Given the description of an element on the screen output the (x, y) to click on. 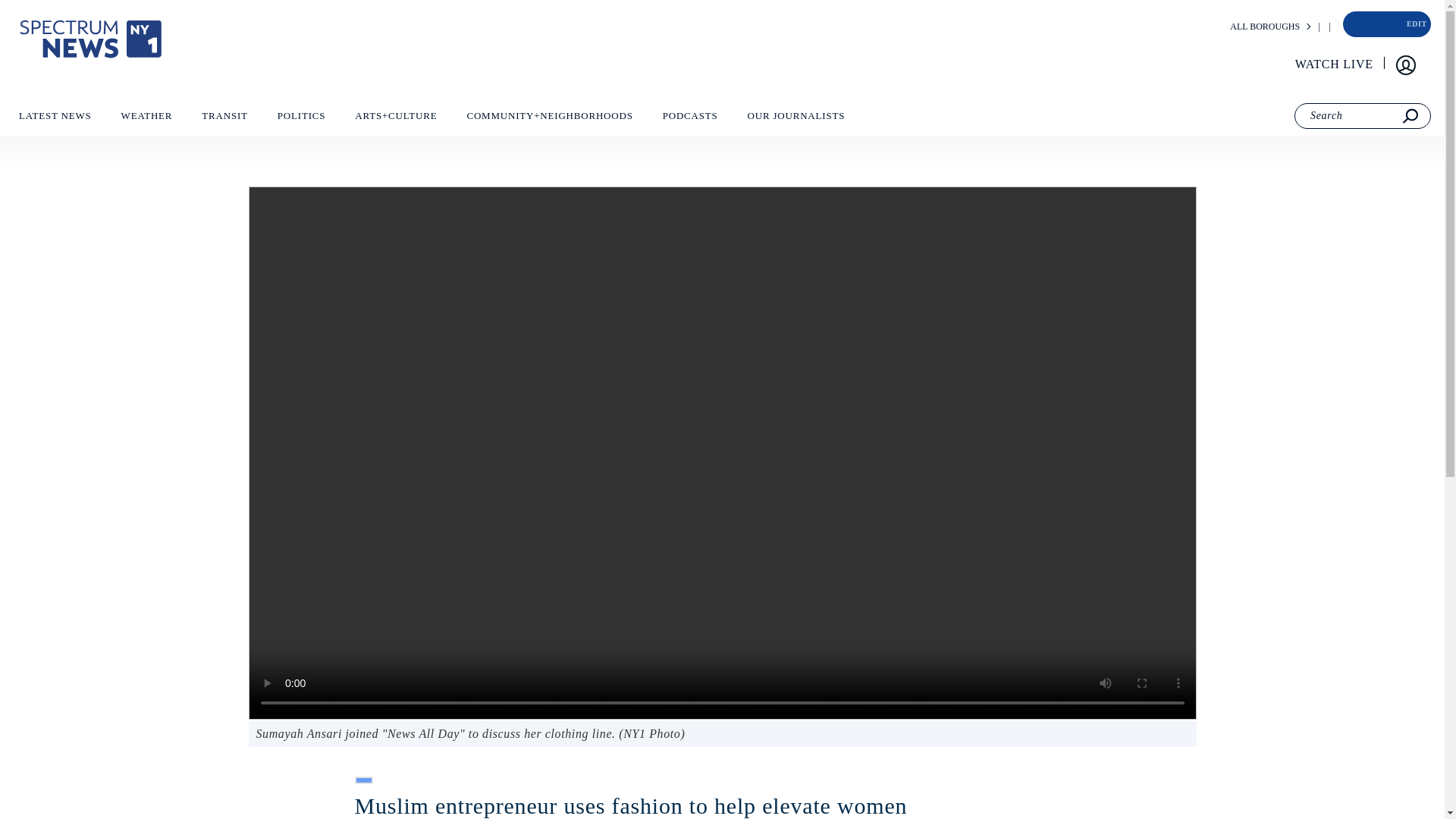
ALL BOROUGHS (1265, 26)
LATEST NEWS (55, 119)
WATCH LIVE (1334, 64)
WEATHER (146, 119)
